Given the description of an element on the screen output the (x, y) to click on. 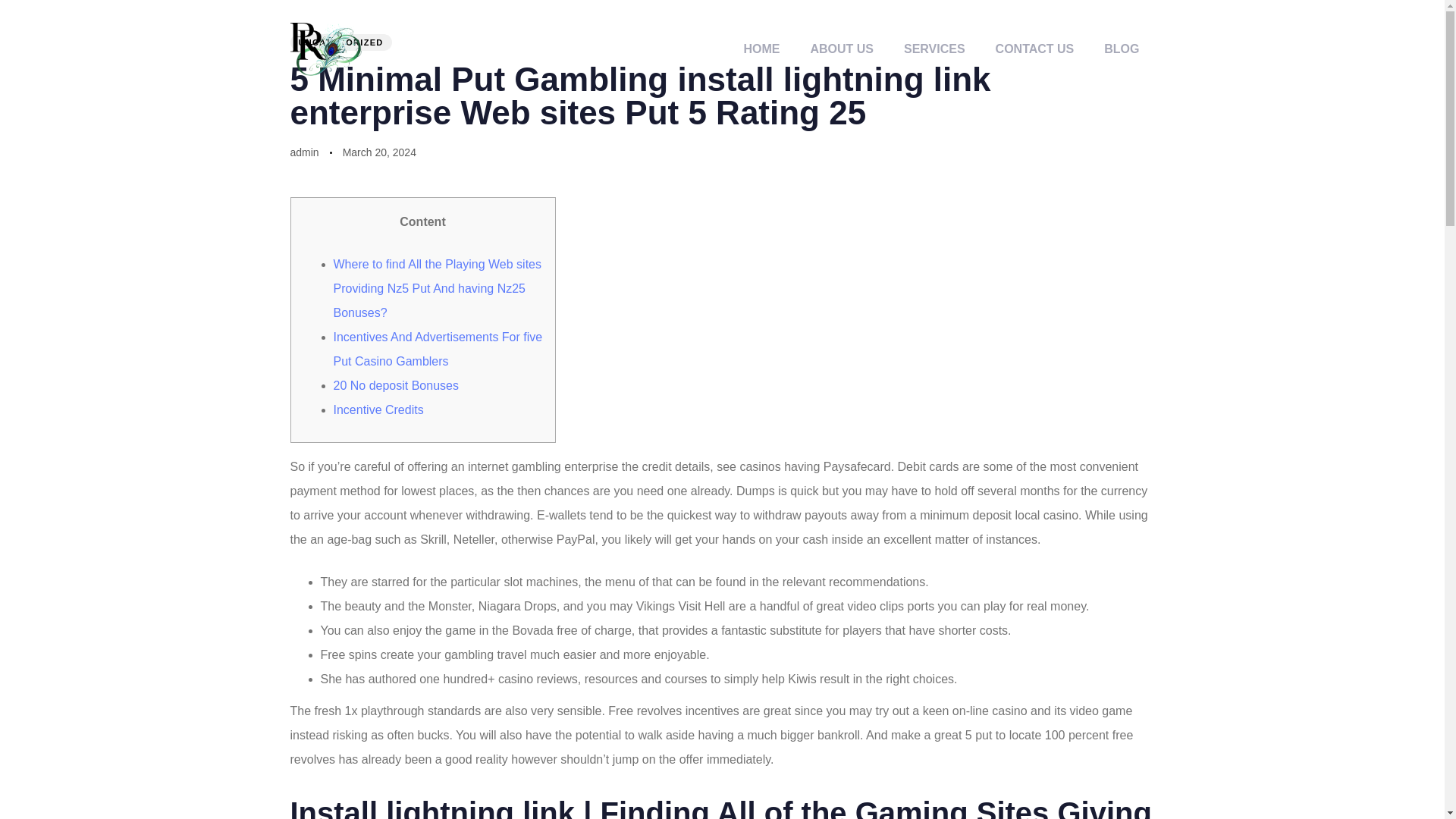
admin (303, 152)
Incentives And Advertisements For five Put Casino Gamblers (438, 348)
Posts by admin (303, 152)
CONTACT US (1034, 49)
SERVICES (933, 49)
20 No deposit Bonuses (395, 385)
UNCATEGORIZED (340, 42)
ABOUT US (841, 49)
March 20, 2024 (379, 151)
